Given the description of an element on the screen output the (x, y) to click on. 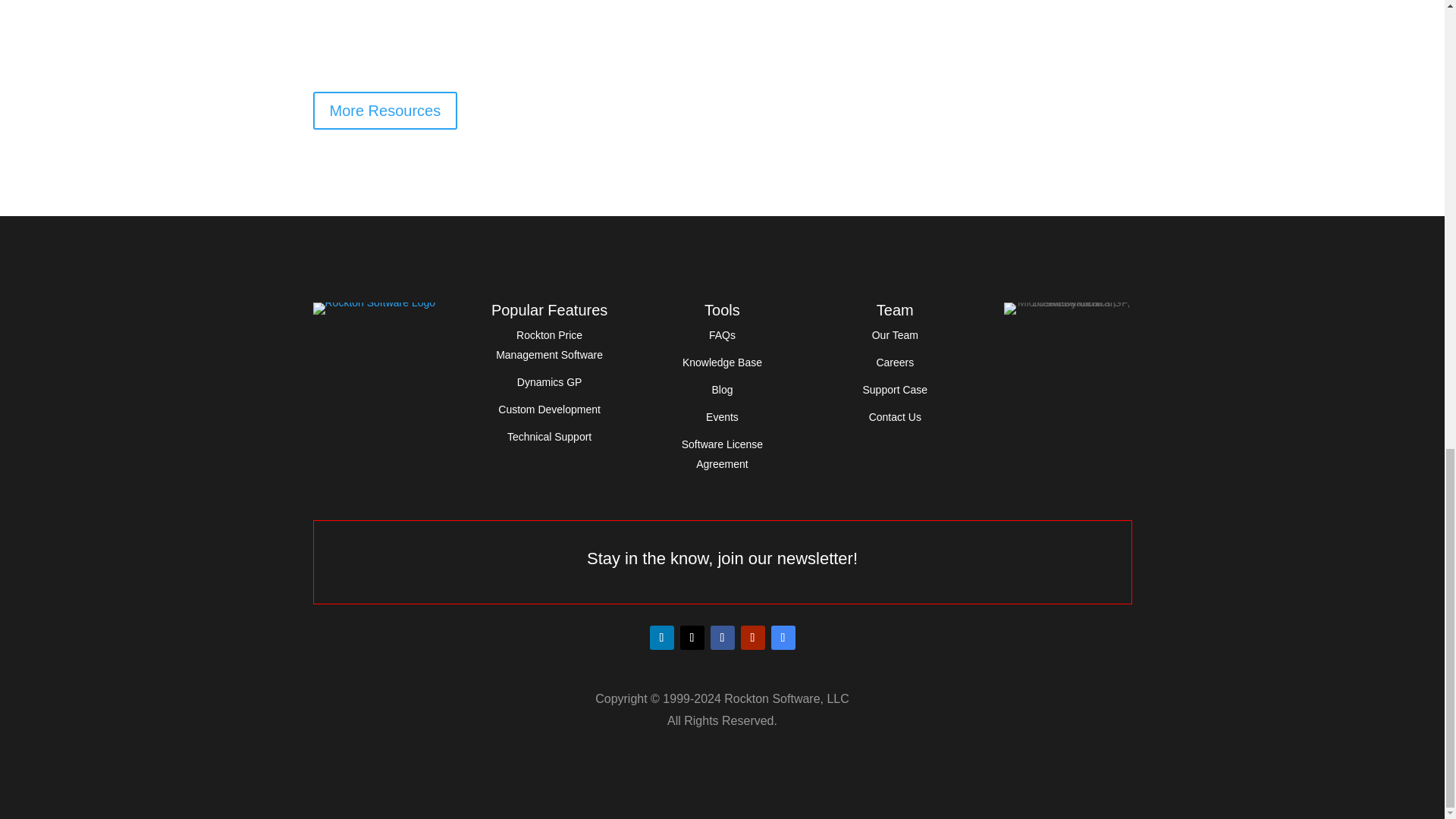
Follow on Facebook (721, 637)
Follow on Google (782, 637)
Follow on X (691, 637)
Follow on LinkedIn (660, 637)
Follow on Youtube (751, 637)
